Given the description of an element on the screen output the (x, y) to click on. 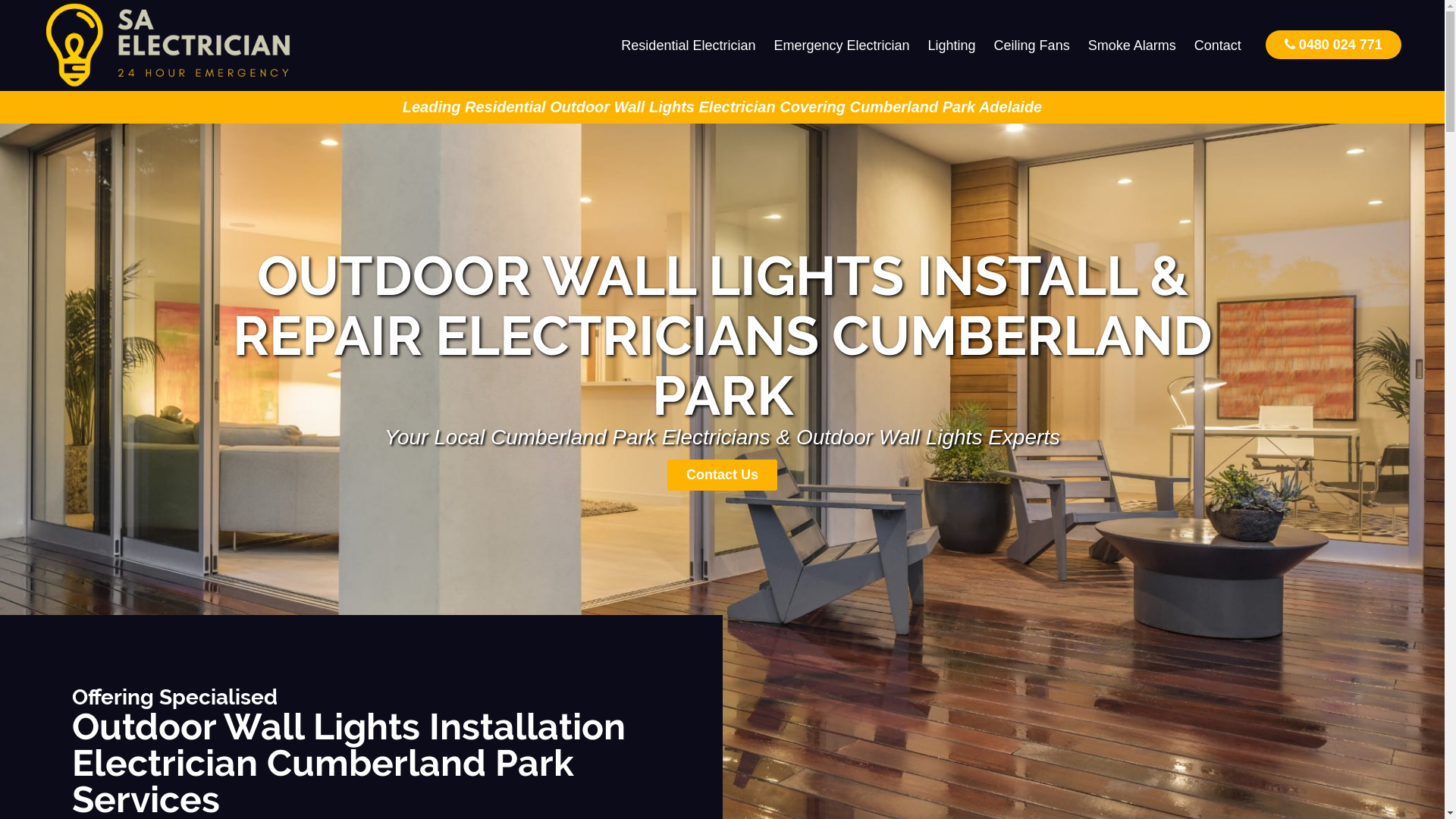
0480 024 771 Element type: text (1333, 44)
Lighting Element type: text (952, 45)
Contact Us Element type: text (722, 474)
Contact Element type: text (1217, 45)
Ceiling Fans Element type: text (1032, 45)
Smoke Alarms Element type: text (1132, 45)
Residential Electrician Element type: text (687, 45)
Emergency Electrician Element type: text (841, 45)
